Given the description of an element on the screen output the (x, y) to click on. 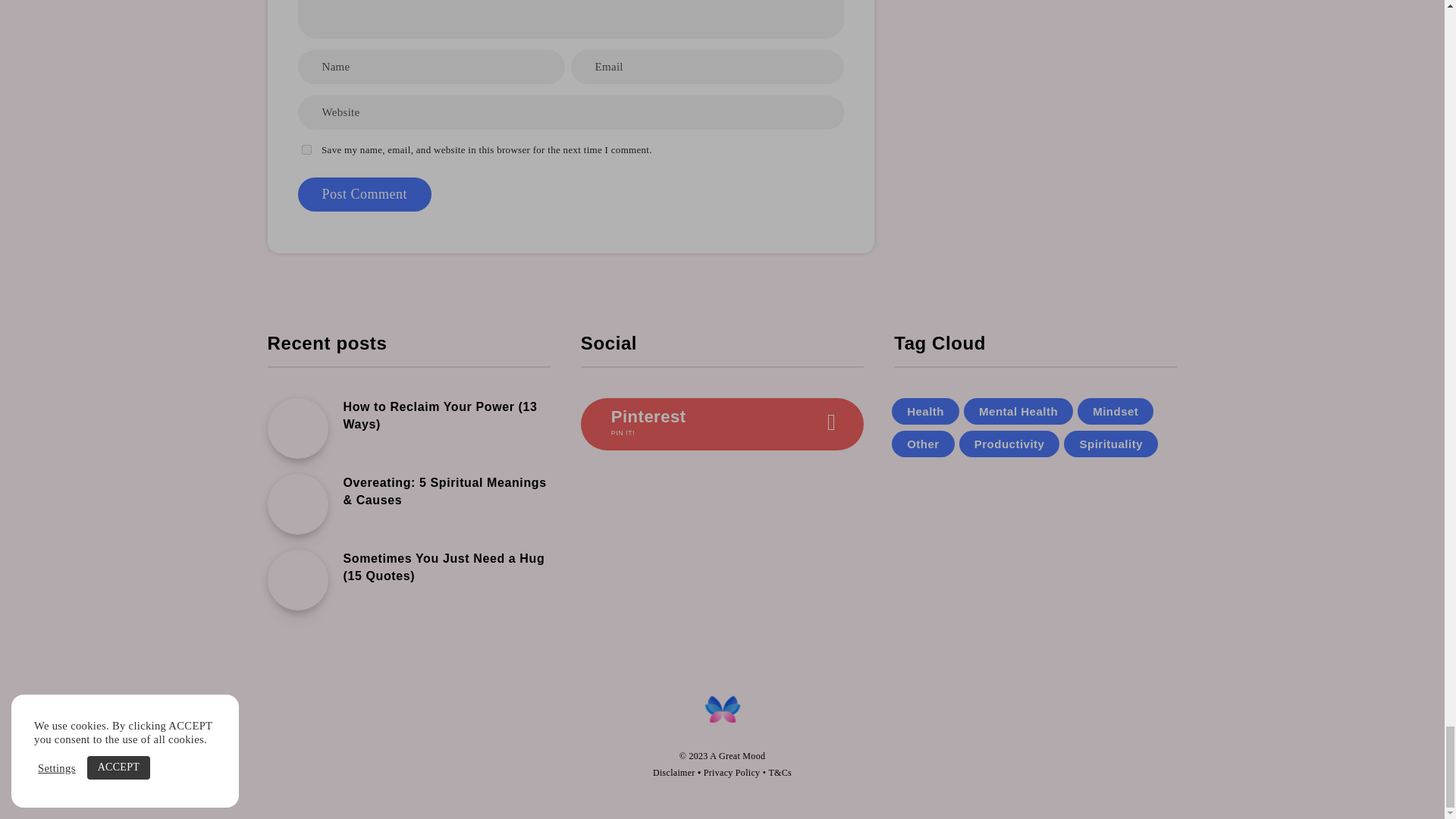
yes (306, 149)
Post Comment (363, 194)
Post Comment (363, 194)
